Given the description of an element on the screen output the (x, y) to click on. 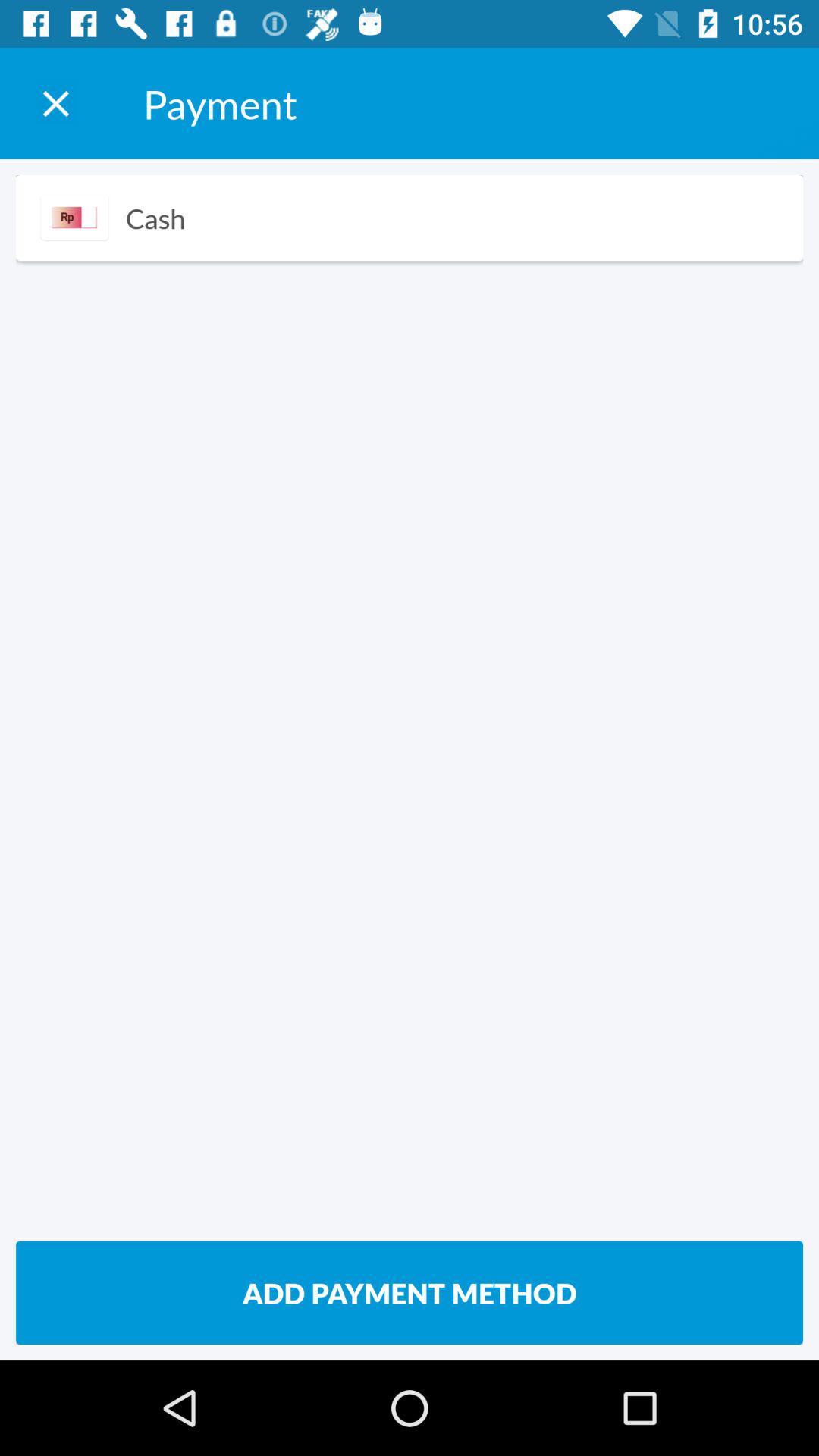
tap the cash item (155, 218)
